Given the description of an element on the screen output the (x, y) to click on. 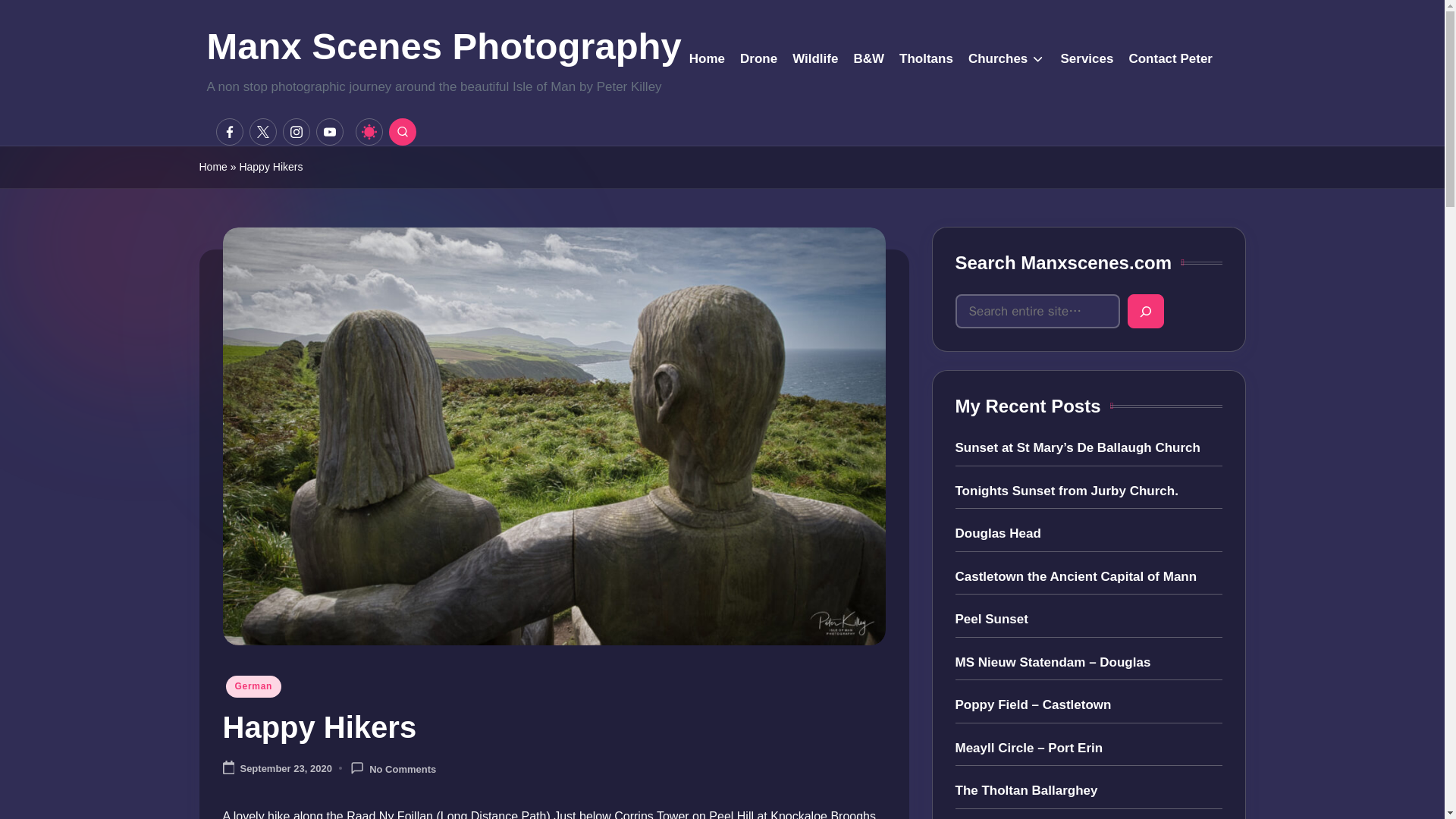
x.com (265, 131)
Manx Scenes Photography (443, 46)
Isle of Man Wildlife Photos (815, 58)
Black and White Isle of Man Images. (868, 58)
Manxscenes.com Home Page (706, 58)
No Comments (392, 768)
My Photography Services (1086, 58)
Facebook (231, 131)
Wildlife (815, 58)
Peel Sunset (1089, 619)
